Given the description of an element on the screen output the (x, y) to click on. 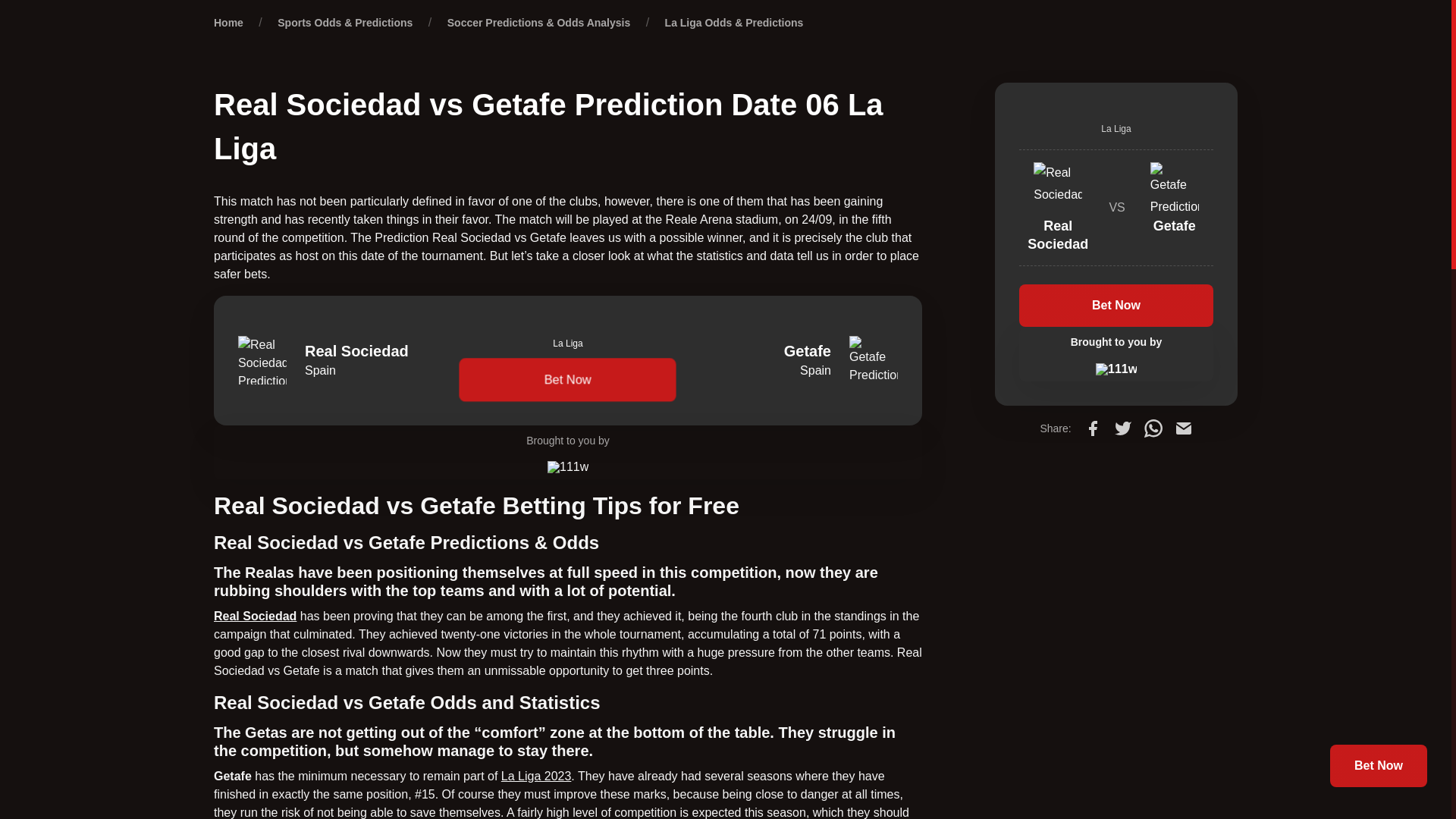
Home (228, 22)
Twitter (1122, 427)
Facebook (1092, 427)
Real Sociedad (255, 615)
moneyline La Liga prediction (536, 775)
Email (1183, 427)
Bet Now (566, 378)
Brought to you by (567, 452)
WhatsApp (1152, 427)
Real Sociedad Twitter (255, 615)
